Given the description of an element on the screen output the (x, y) to click on. 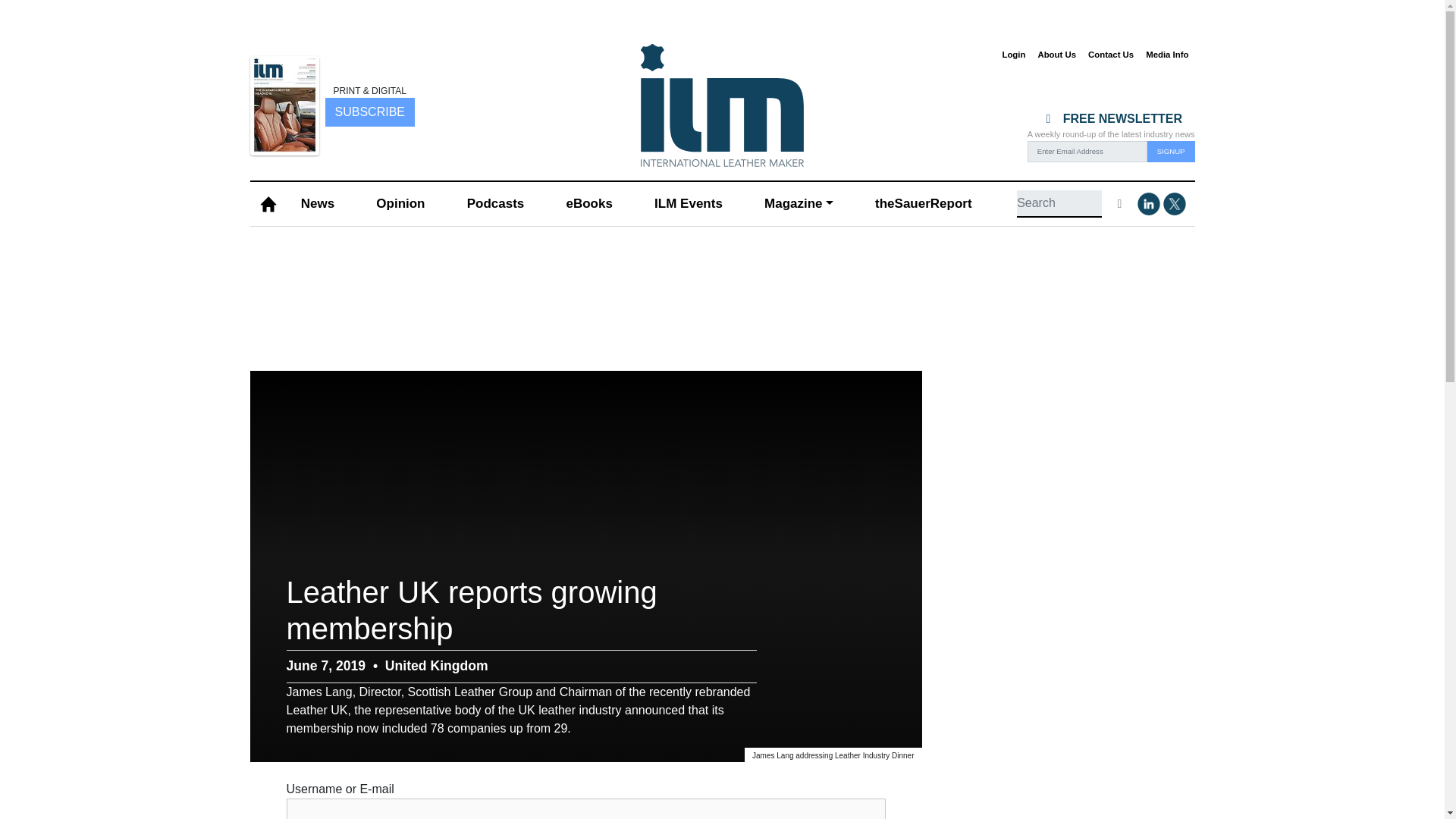
James Lang addressing Leather Industry Dinner (833, 755)
Opinion (400, 204)
theSauerReport (922, 204)
ILM Events (688, 204)
SIGNUP (1171, 151)
Contact Us (1110, 54)
SUBSCRIBE (368, 111)
About Us (1055, 54)
eBooks (588, 204)
Magazine (797, 204)
News (317, 204)
Login (1012, 54)
Podcasts (494, 204)
Media Info (1166, 54)
